Given the description of an element on the screen output the (x, y) to click on. 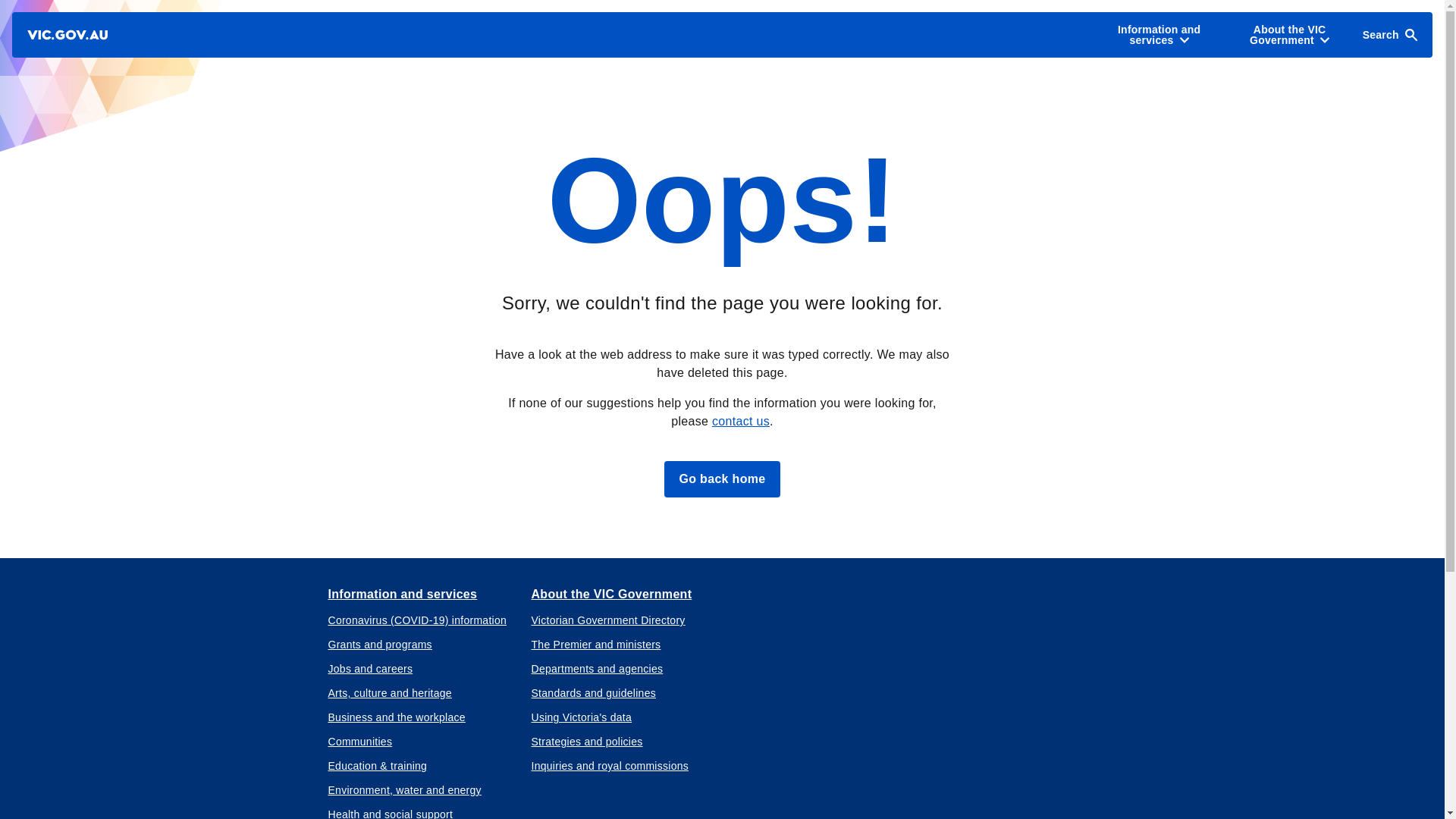
The Premier and ministers (596, 644)
Strategies and policies (586, 741)
Health and social support (389, 812)
Information and services (402, 594)
contact us (740, 420)
Communities (359, 741)
Grants and programs (378, 644)
About the VIC Government (611, 594)
Inquiries and royal commissions (609, 765)
Go back home (721, 479)
